Given the description of an element on the screen output the (x, y) to click on. 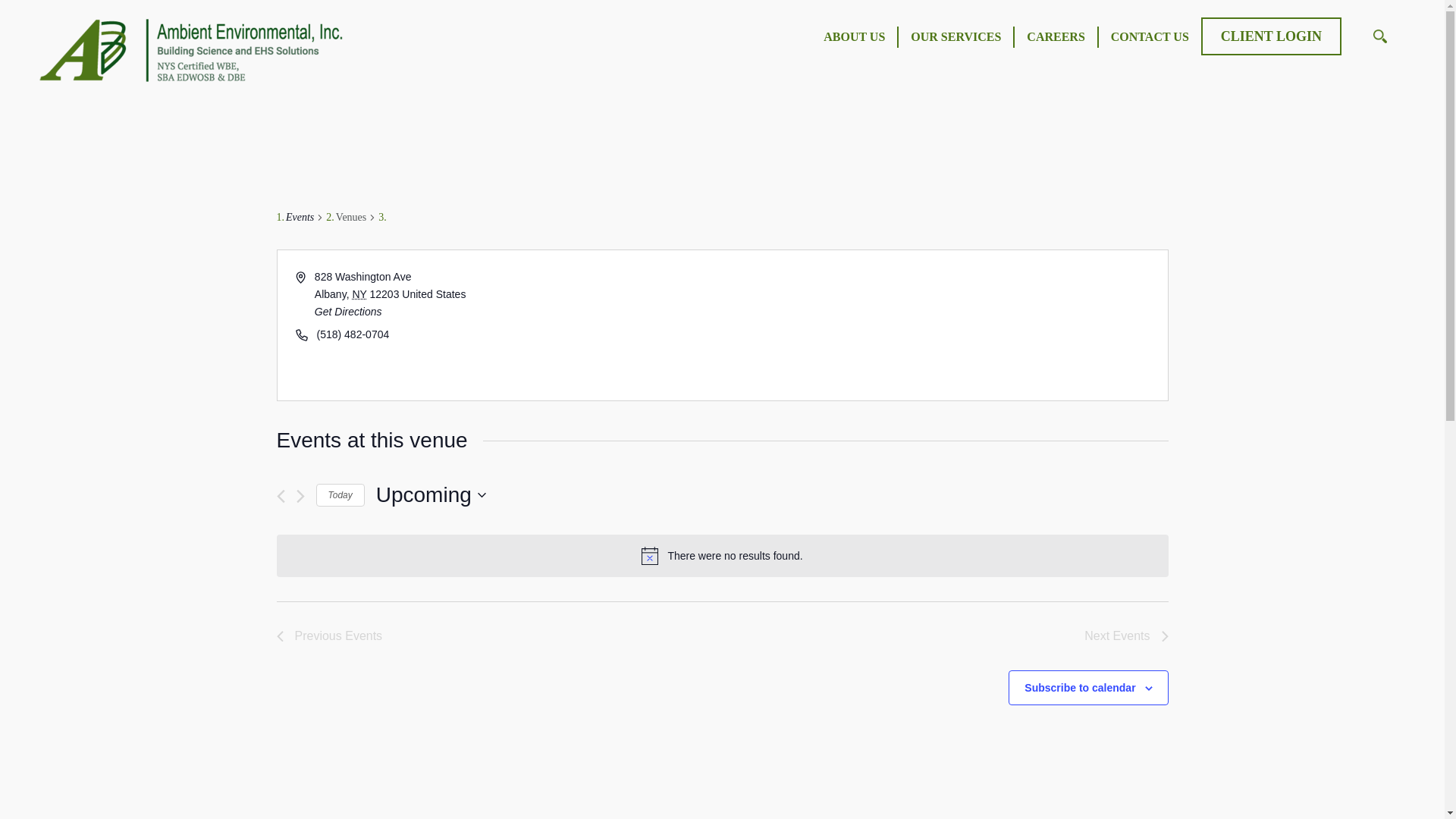
Previous Events (328, 636)
Next Events (1125, 636)
New York (359, 294)
Click to select today's date (339, 495)
Google maps iframe displaying the address to  (944, 325)
ABOUT US (853, 36)
OUR SERVICES (955, 36)
Click to toggle datepicker (430, 494)
